Given the description of an element on the screen output the (x, y) to click on. 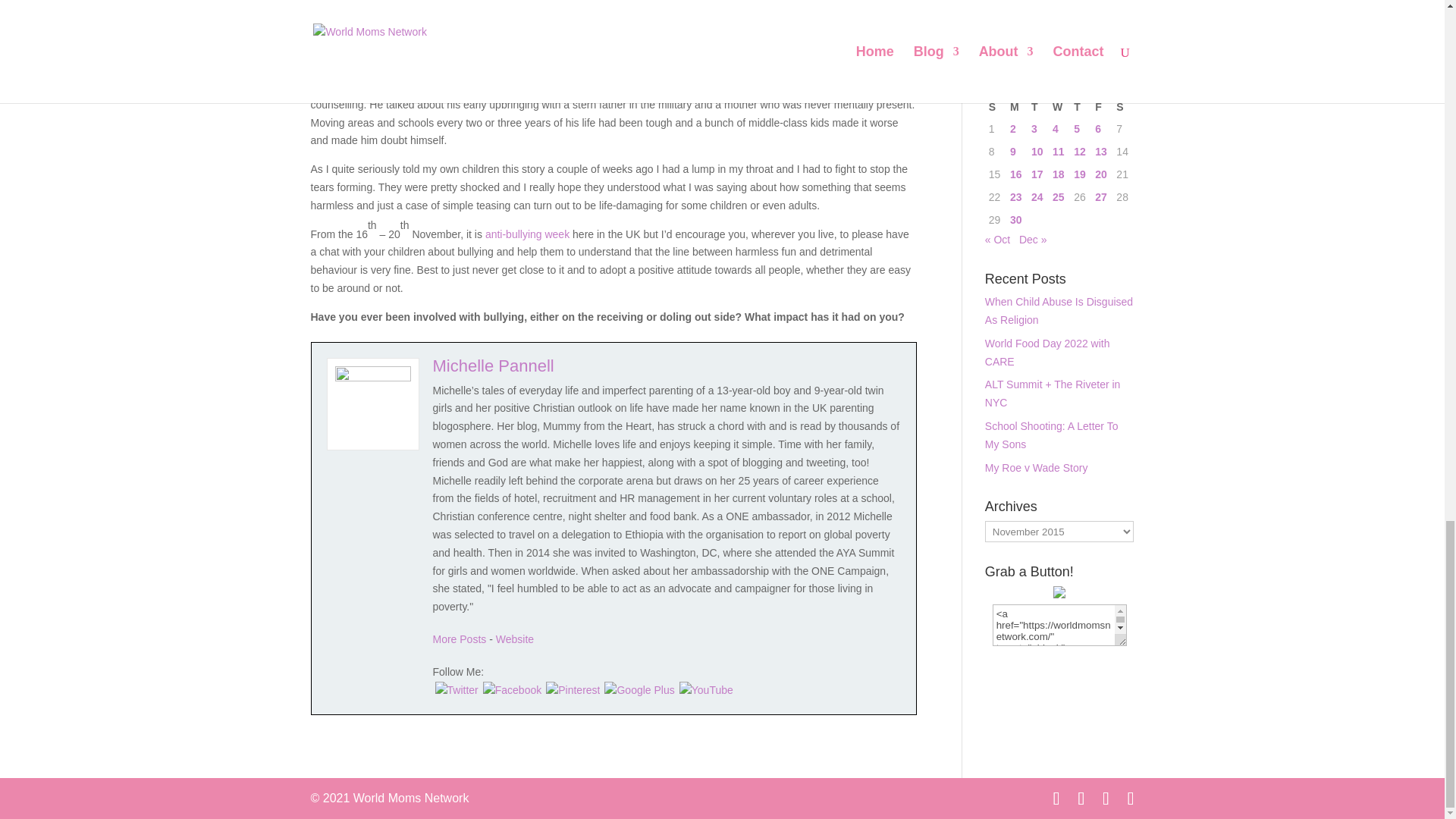
Saturday (1123, 107)
More posts by Michelle Pannell (459, 639)
Thursday (1080, 107)
Friday (1101, 107)
Monday (1016, 107)
Wednesday (1059, 107)
Sunday (995, 107)
Michelle Pannell (492, 365)
Tuesday (1037, 107)
Michelle Pannell (515, 639)
